Given the description of an element on the screen output the (x, y) to click on. 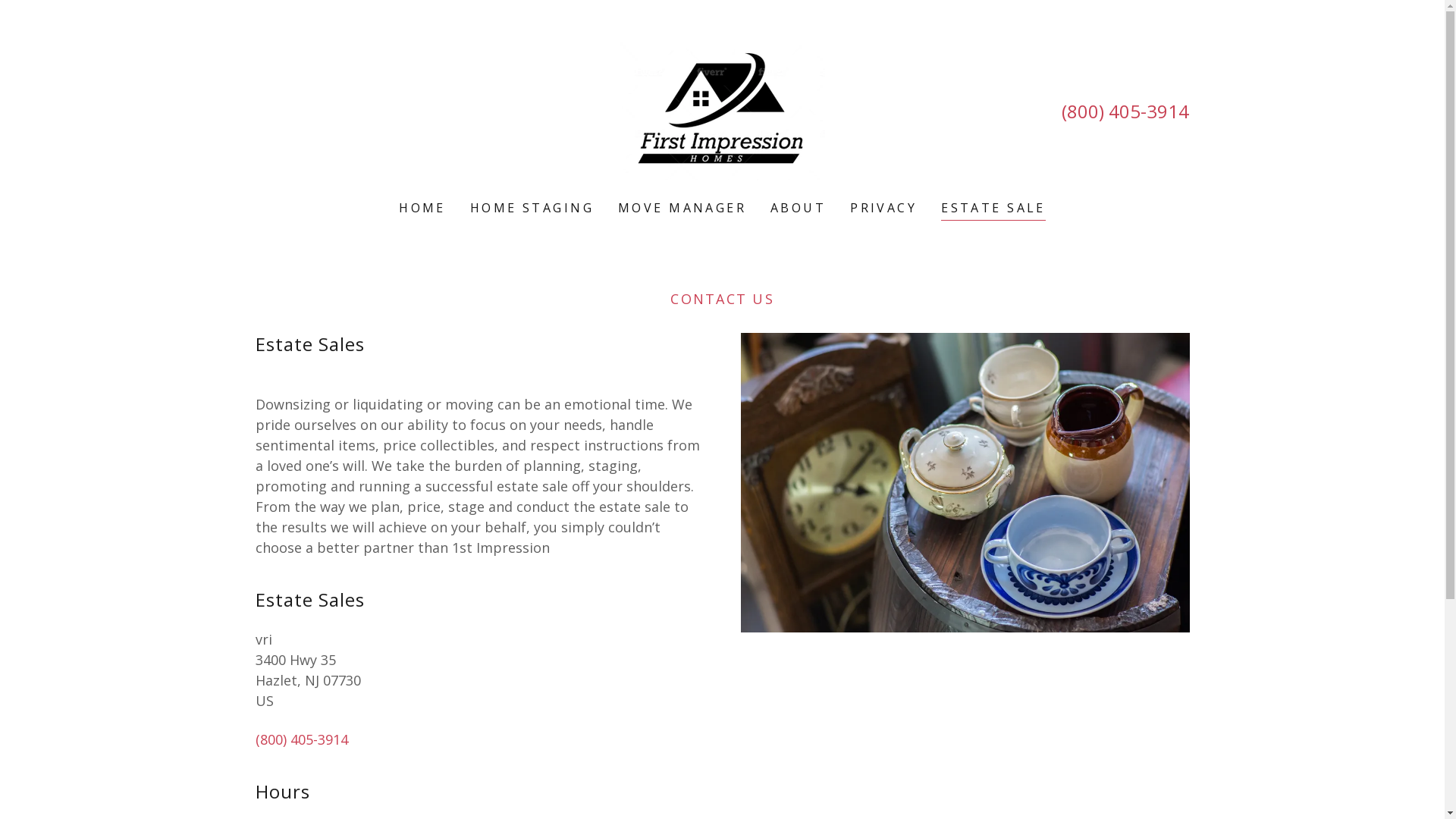
ESTATE SALE Element type: text (993, 209)
HOME Element type: text (422, 207)
MOVE MANAGER Element type: text (681, 207)
PRIVACY Element type: text (883, 207)
(800) 405-3914 Element type: text (1125, 110)
(800) 405-3914 Element type: text (300, 739)
ABOUT Element type: text (797, 207)
HOME STAGING Element type: text (531, 207)
first impression homes Element type: hover (722, 109)
